Given the description of an element on the screen output the (x, y) to click on. 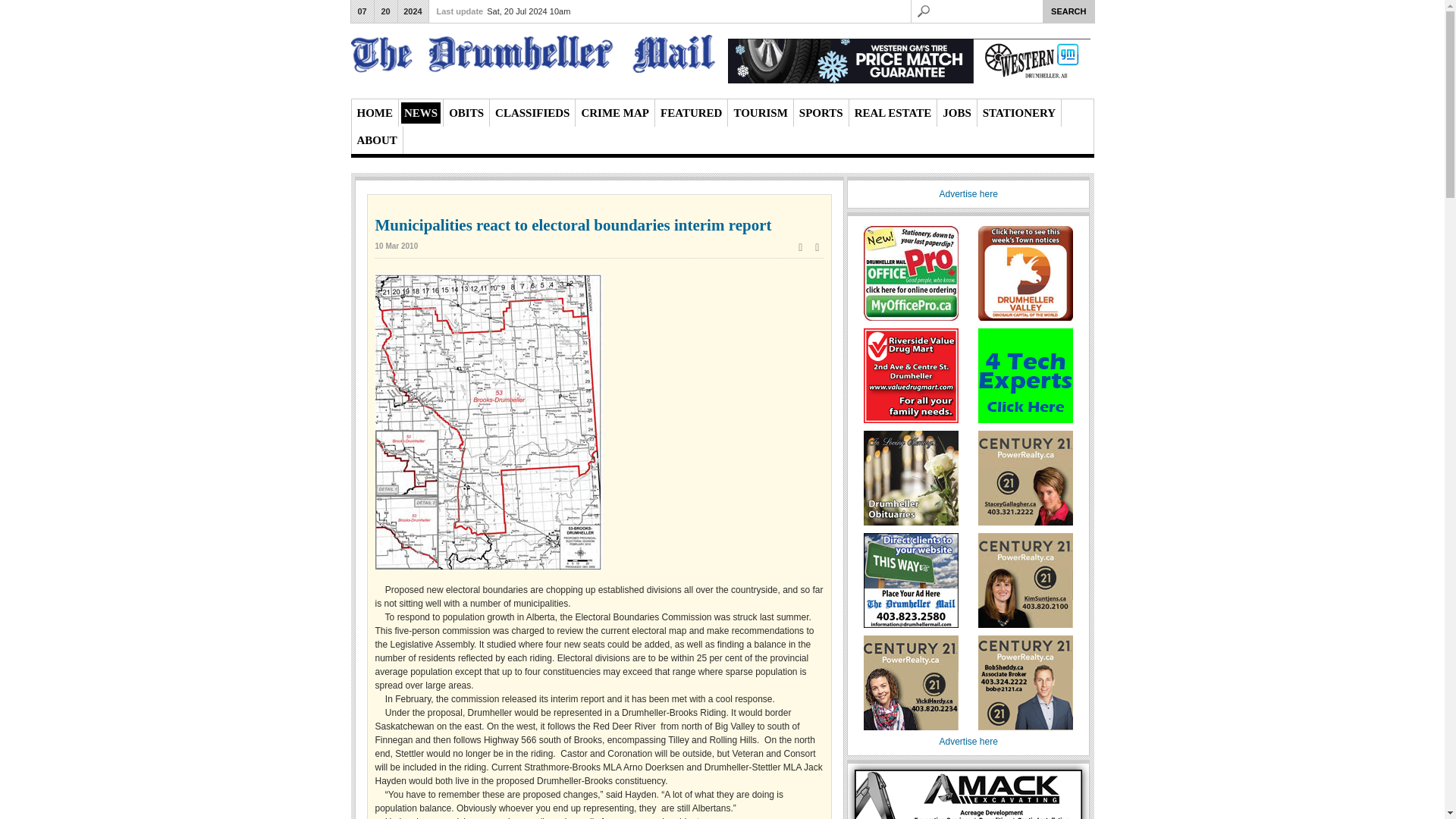
REAL ESTATE (892, 112)
TOURISM (760, 112)
STATIONERY (1018, 112)
DrumhellerMail (532, 56)
Search (1067, 11)
CRIME MAP (615, 112)
Print (800, 246)
FEATURED (691, 112)
CLASSIFIEDS (532, 112)
WesternGMDrumheller (909, 60)
Search (1067, 11)
OBITS (465, 112)
ABOUT (375, 139)
NEWS (421, 112)
HOME (374, 112)
